Given the description of an element on the screen output the (x, y) to click on. 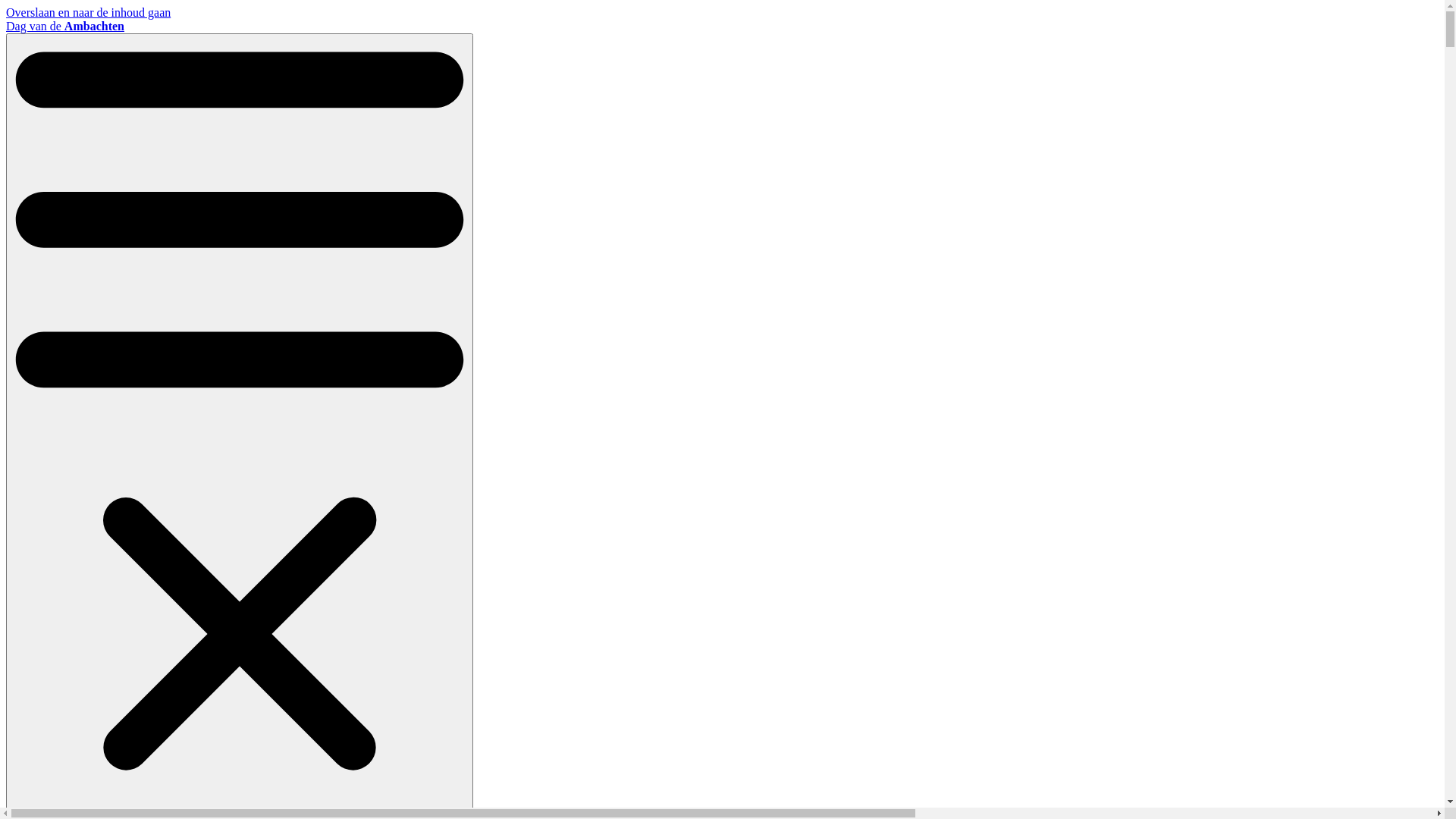
Overslaan en naar de inhoud gaan Element type: text (88, 12)
Dag van de Ambachten Element type: text (65, 25)
